Given the description of an element on the screen output the (x, y) to click on. 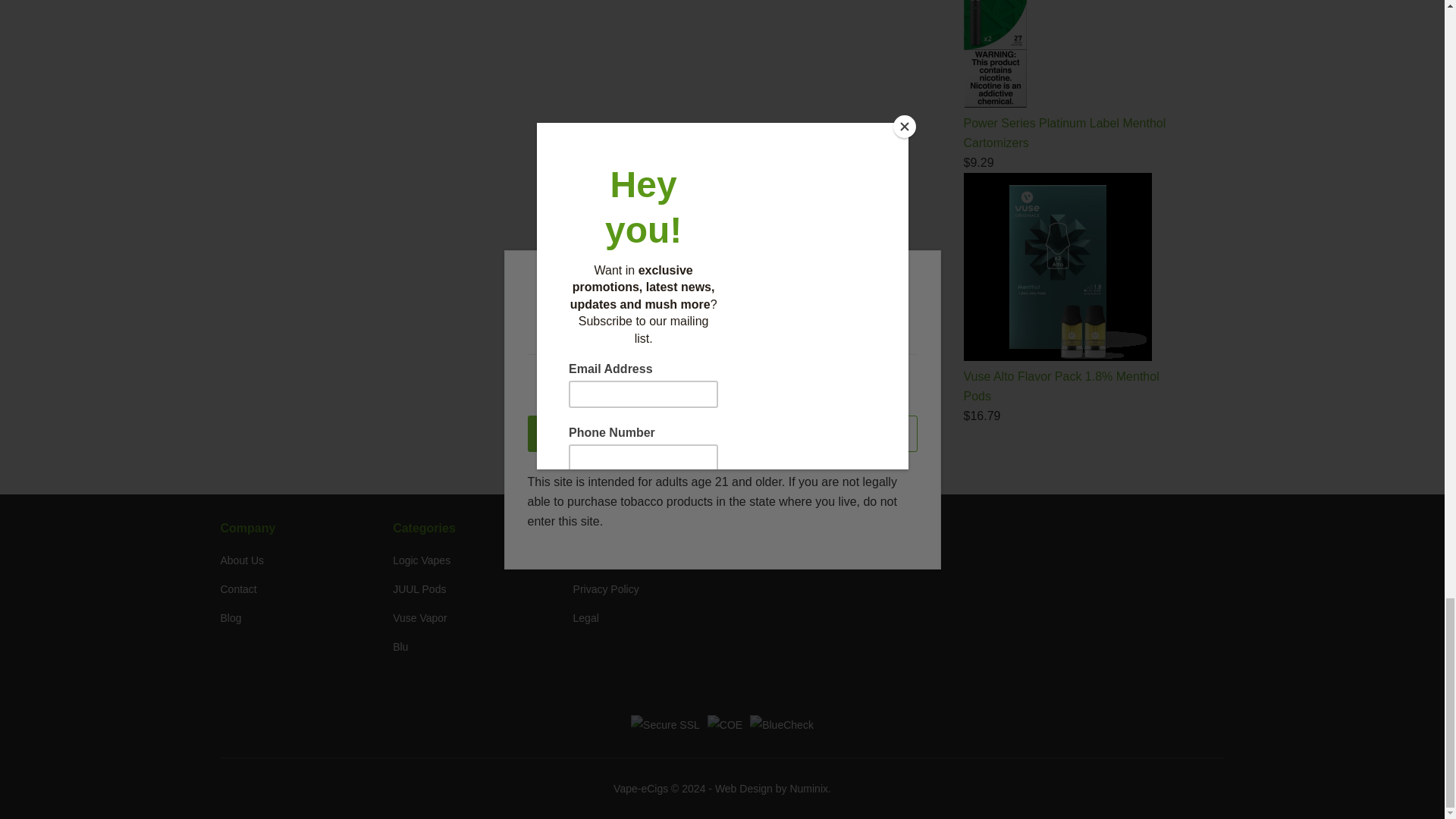
Bizrate Insights 2020 Circle of Excellence Platinum Award (724, 724)
BlueCheck (781, 724)
